Given the description of an element on the screen output the (x, y) to click on. 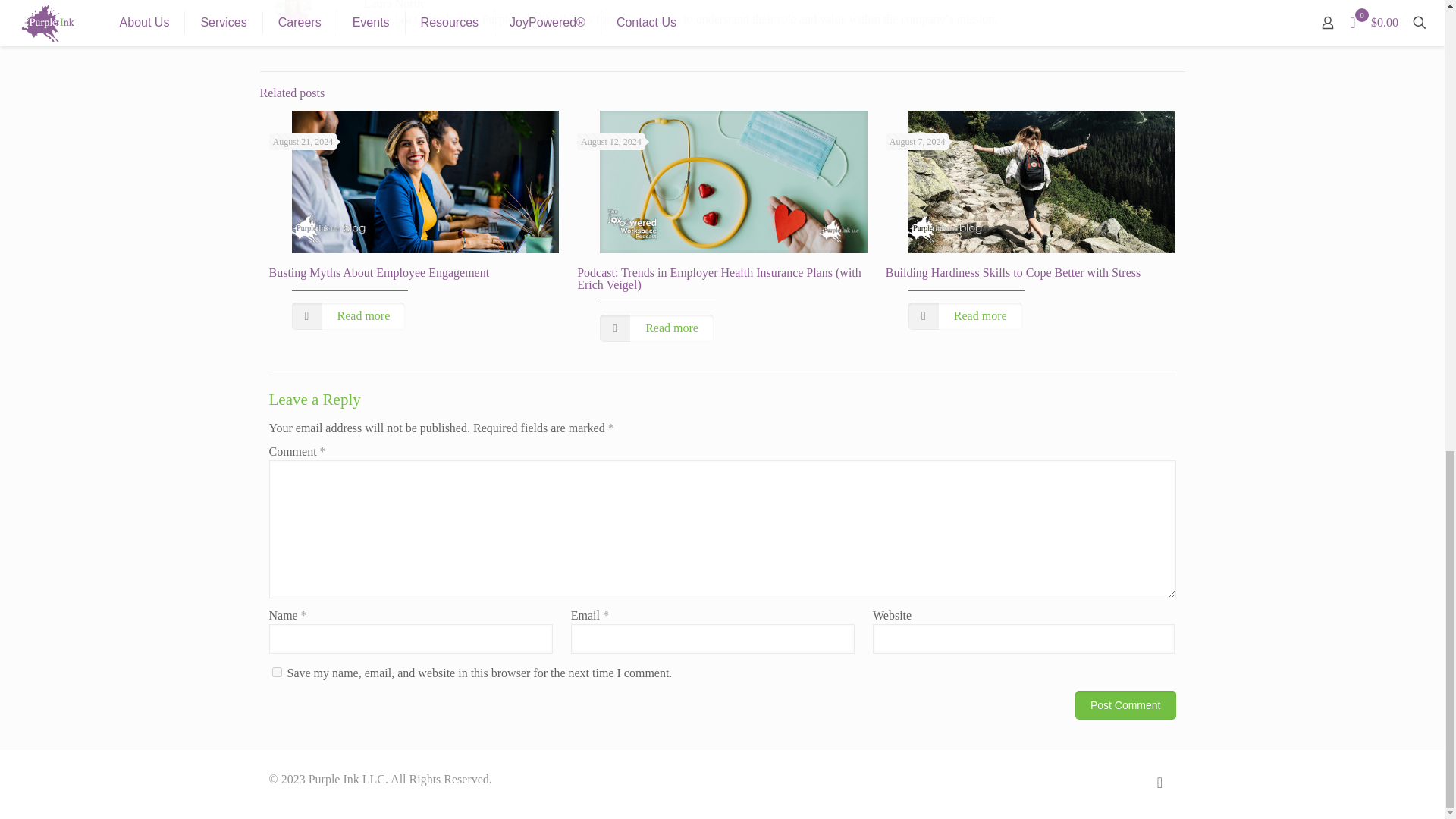
Post Comment (1125, 705)
yes (275, 672)
LinkedIn (1123, 779)
Facebook (1091, 779)
